Given the description of an element on the screen output the (x, y) to click on. 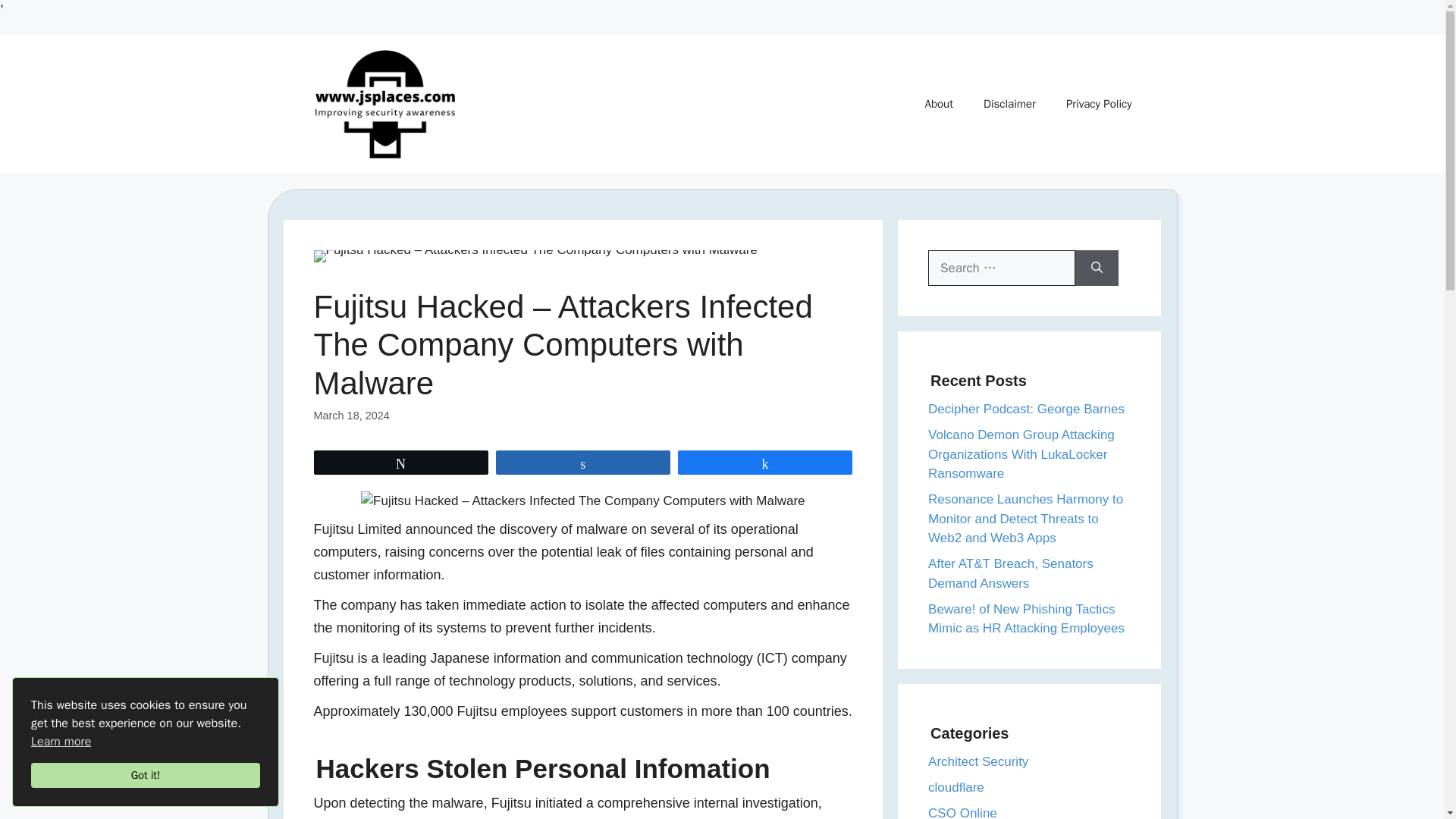
Architect Security (977, 761)
About (939, 103)
CSO Online (962, 812)
Learn more (60, 741)
Privacy Policy (1099, 103)
Got it! (145, 774)
cloudflare (956, 787)
Search for: (1001, 268)
Disclaimer (1009, 103)
Decipher Podcast: George Barnes (1026, 409)
